Given the description of an element on the screen output the (x, y) to click on. 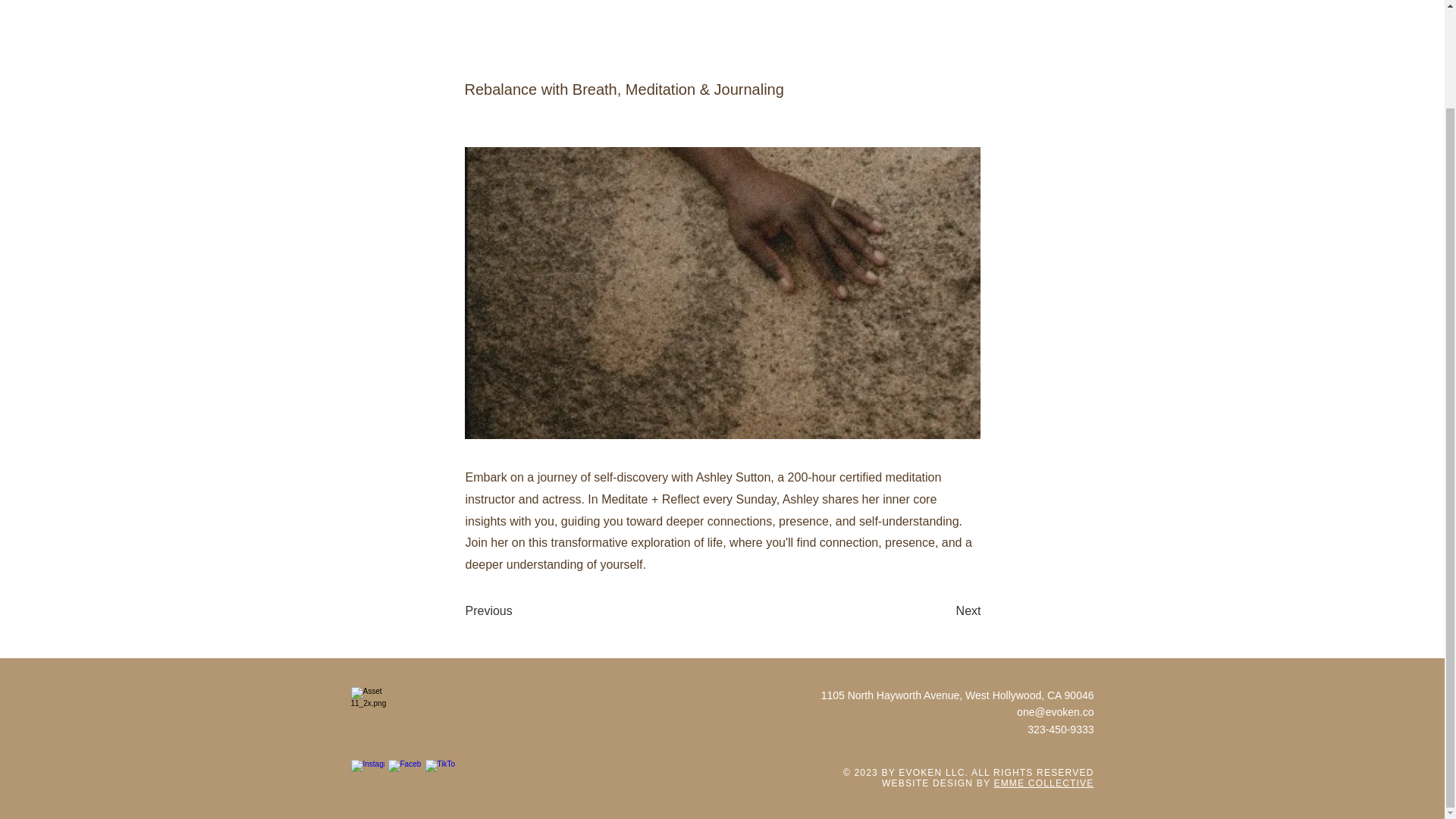
Previous (515, 611)
EMME COLLECTIVE (1042, 783)
Next (943, 611)
